Given the description of an element on the screen output the (x, y) to click on. 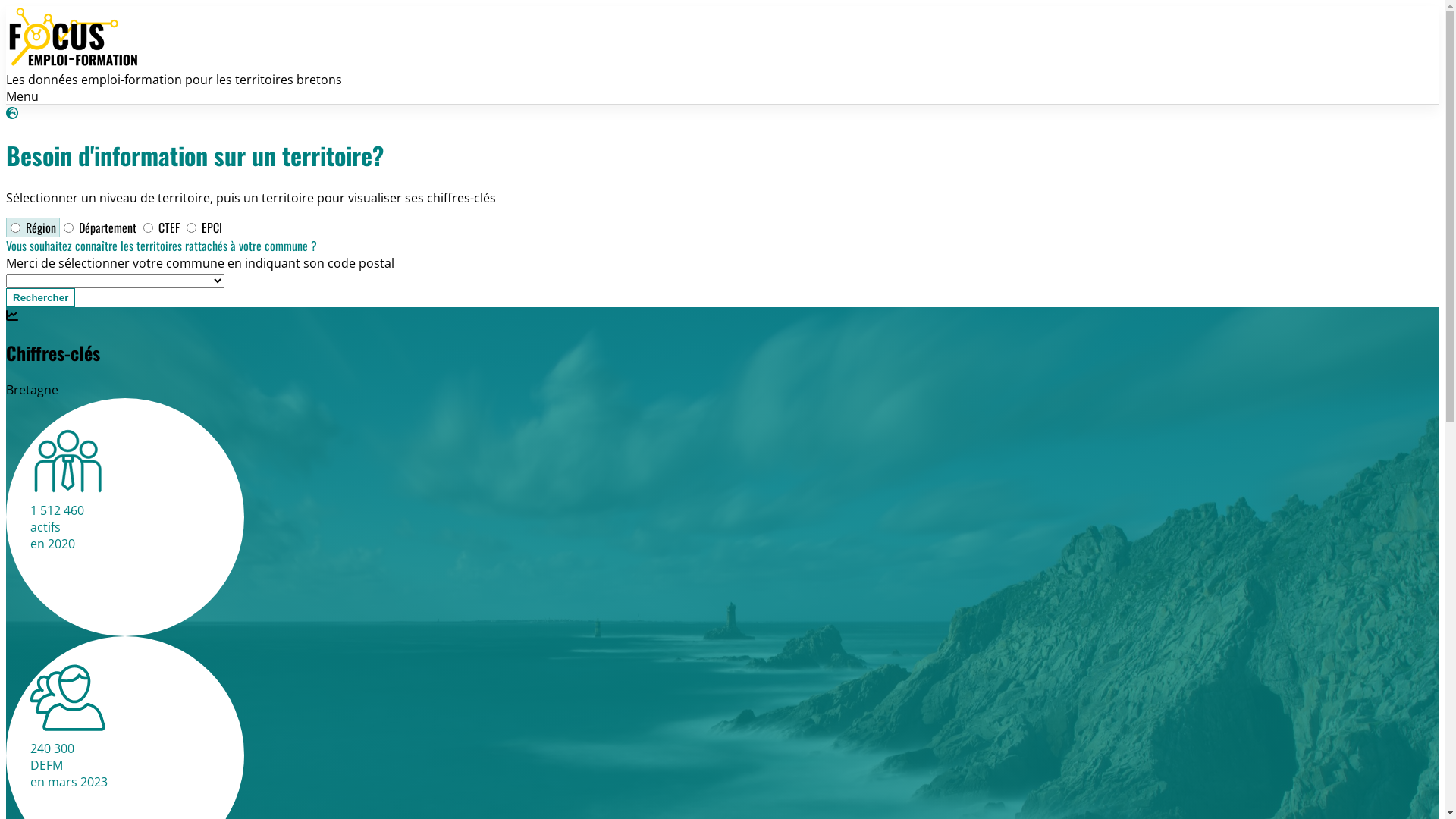
Rechercher Element type: text (40, 297)
